Given the description of an element on the screen output the (x, y) to click on. 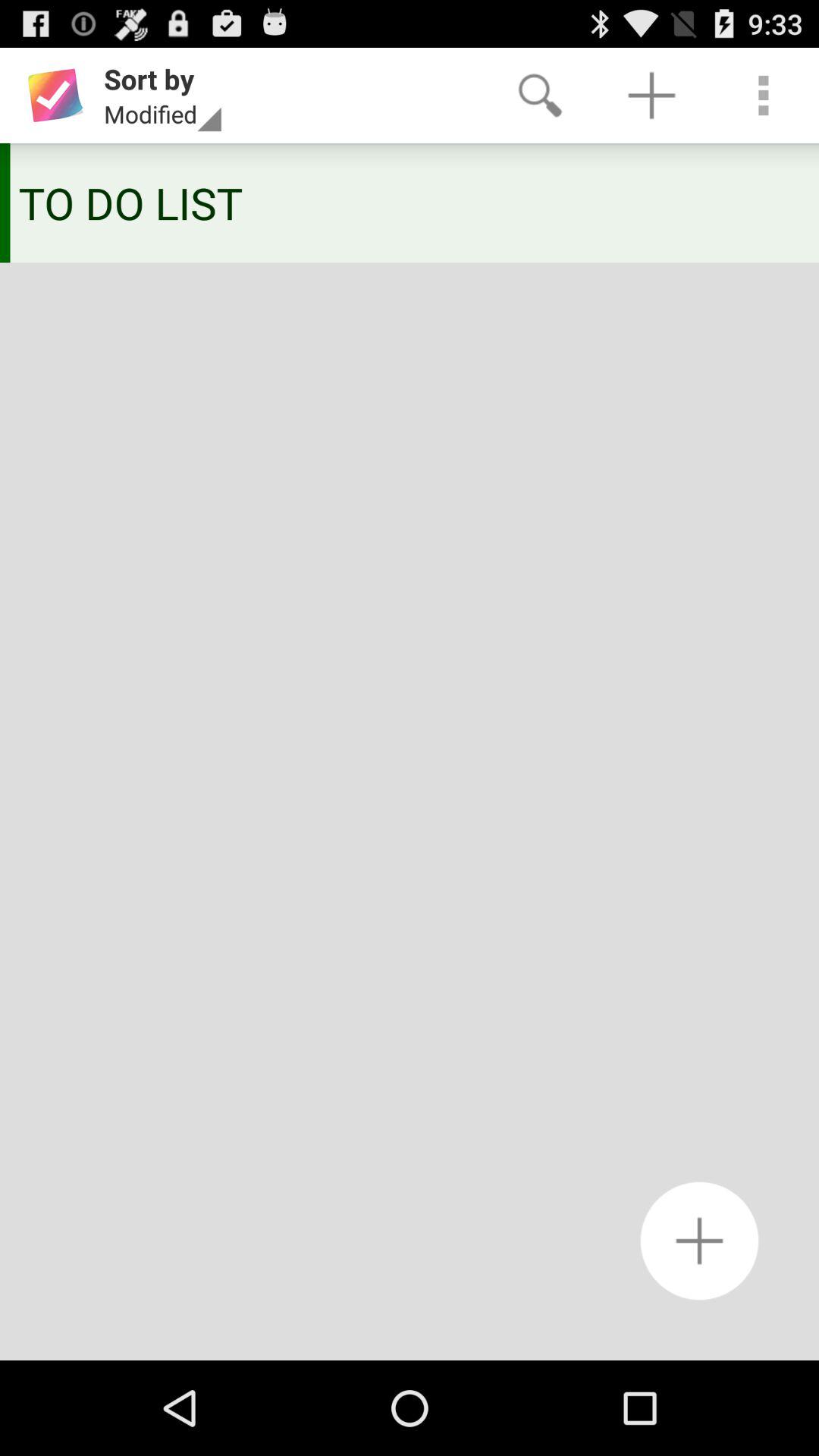
launch icon next to to do list (5, 202)
